Given the description of an element on the screen output the (x, y) to click on. 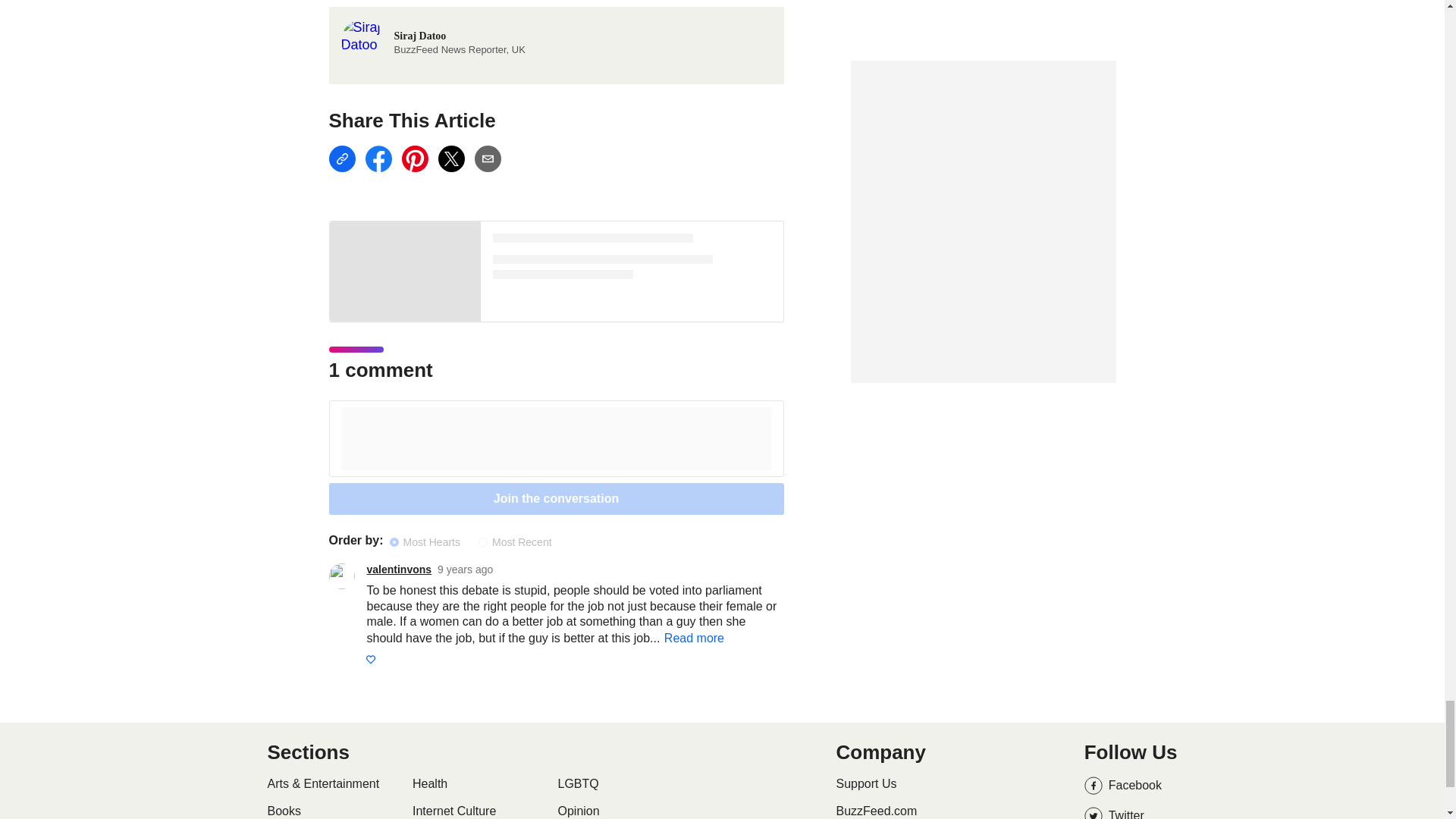
Heart (369, 659)
Mail (487, 158)
Join the conversation (556, 499)
Link (341, 158)
Pinterest (414, 158)
Twitter (451, 158)
Facebook (378, 158)
